Given the description of an element on the screen output the (x, y) to click on. 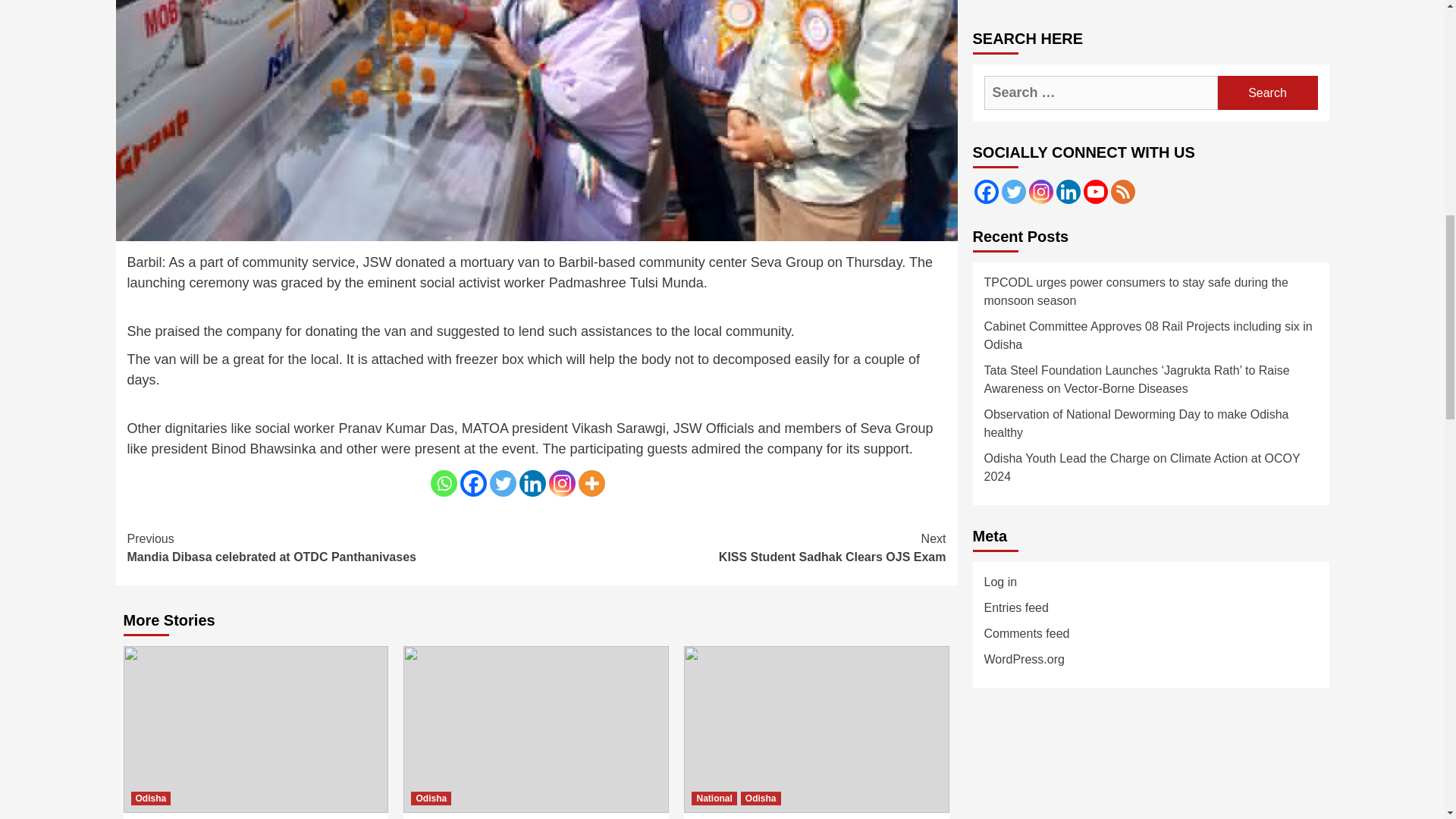
Linkedin (531, 483)
More (591, 483)
Facebook (473, 483)
Twitter (502, 483)
Whatsapp (443, 483)
Instagram (561, 483)
